Given the description of an element on the screen output the (x, y) to click on. 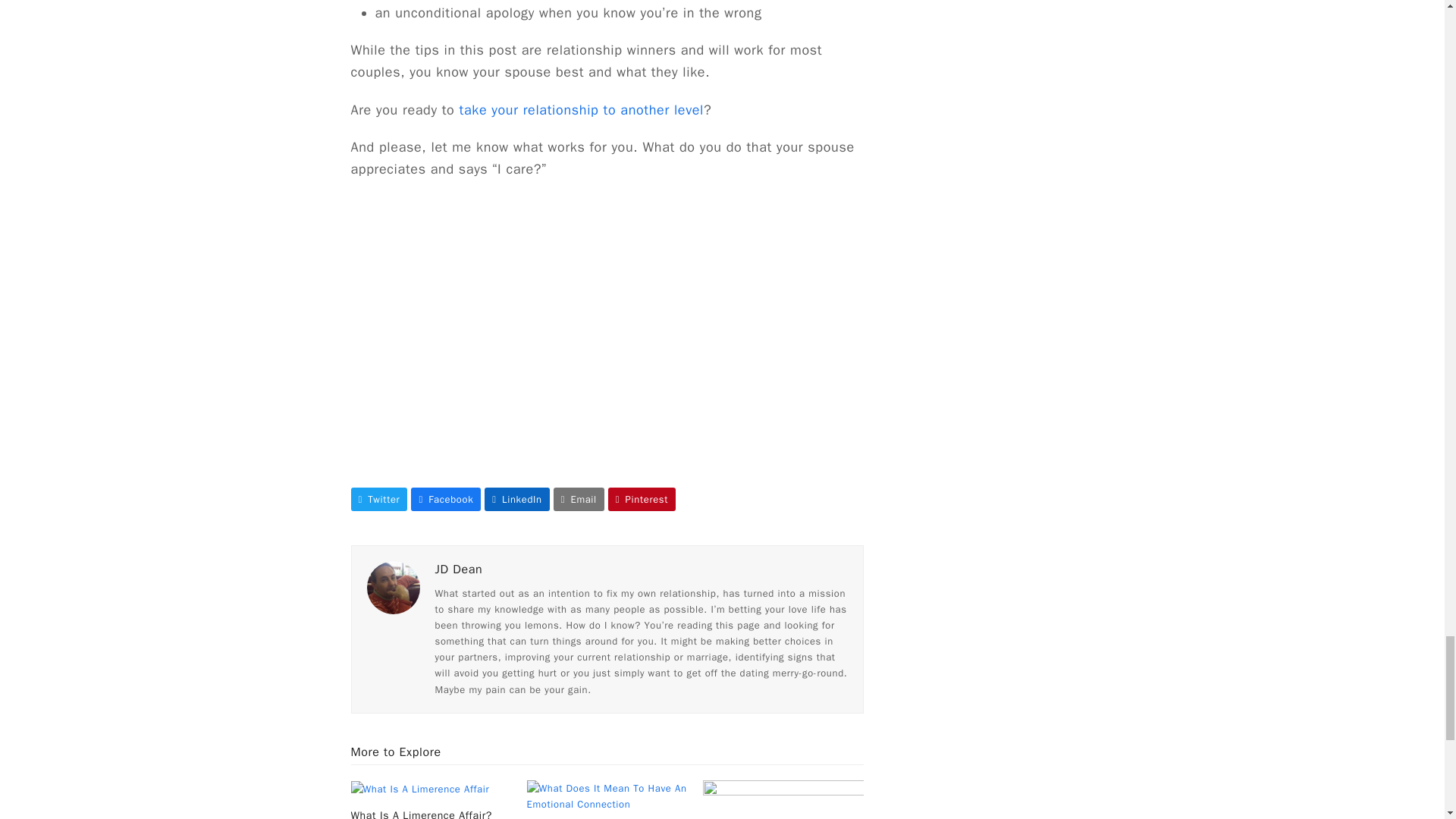
What Is A Limerence Affair? (421, 814)
Twitter (378, 499)
Facebook (445, 499)
LinkedIn (516, 499)
take your relationship to another level (582, 109)
Pinterest (641, 499)
Email (578, 499)
What Is A Limerence Affair? (419, 788)
